Given the description of an element on the screen output the (x, y) to click on. 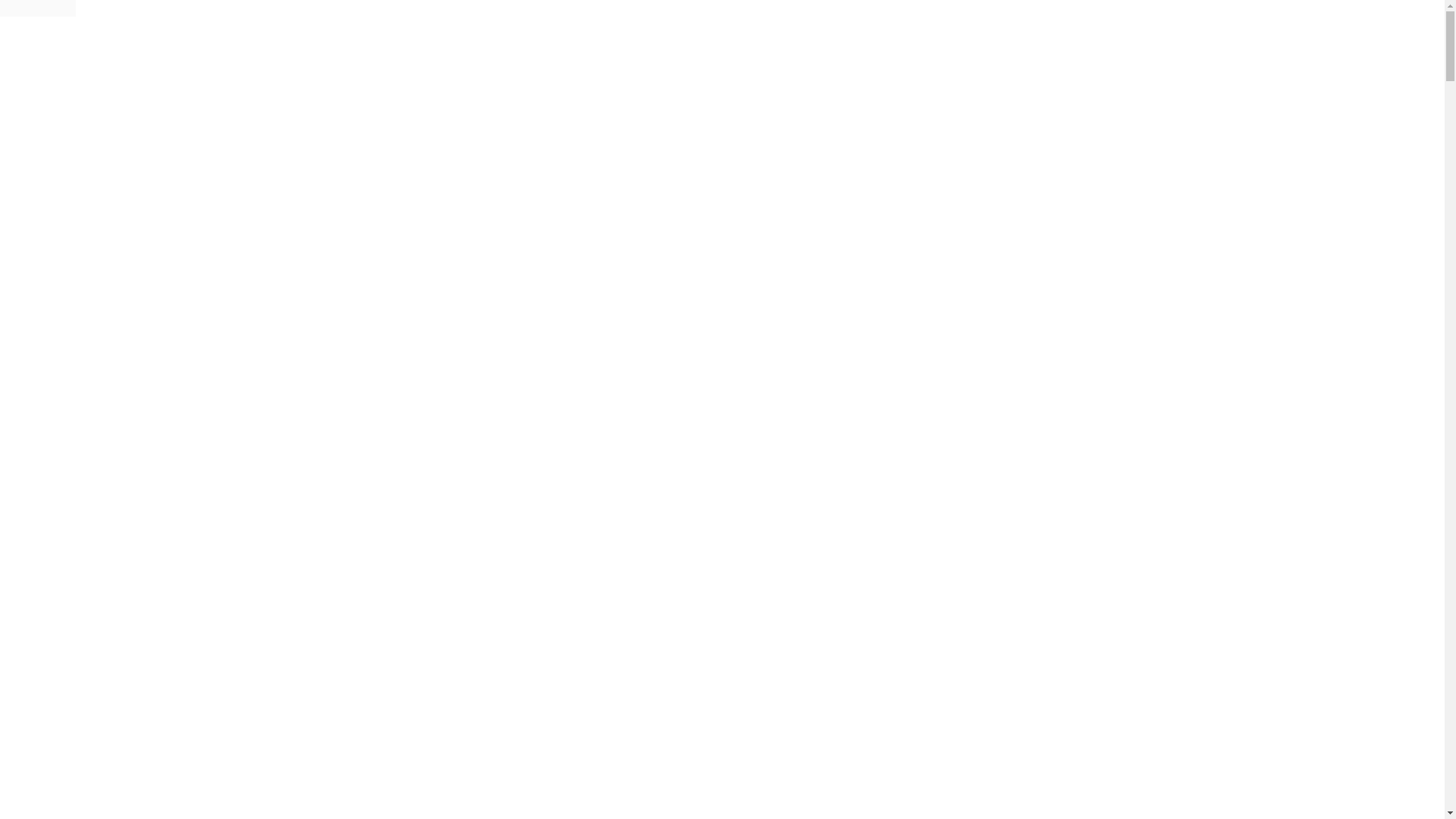
Klantenservice Element type: text (72, 186)
Body's Element type: text (83, 742)
Erotische Lingerie Element type: text (81, 342)
Beugel BH's Element type: text (127, 646)
Push up & Maximizer BH's Element type: text (164, 633)
Winkels Element type: text (55, 172)
Strings, Slips & Shorts Element type: text (122, 755)
BLACK FRIDAY Element type: text (80, 496)
BLACK FRIDAY Element type: text (80, 315)
Longline BH's Element type: text (132, 687)
Voorgevormde BH's Element type: text (146, 660)
Lingerie Element type: text (56, 510)
Menu Element type: text (20, 53)
Bestsellers Element type: text (62, 397)
CLDmagazine Element type: text (71, 424)
Bustiers & corsetten Element type: text (116, 728)
Drogist Element type: text (54, 370)
Bralettes Element type: text (118, 701)
Love Toys Element type: text (61, 356)
Mode Element type: text (50, 383)
BH & Lingerie Setjes Element type: text (119, 715)
BH's Element type: text (78, 578)
Outlet Element type: text (51, 410)
Lingerie Element type: text (56, 329)
Top 10 Lingerie Element type: text (105, 551)
Tanga strings Element type: text (129, 810)
Slips & shorts Element type: text (131, 796)
BH setjes Element type: text (120, 619)
Alle Lingerie Element type: text (98, 564)
Grote maten BH's Element type: text (140, 674)
